Given the description of an element on the screen output the (x, y) to click on. 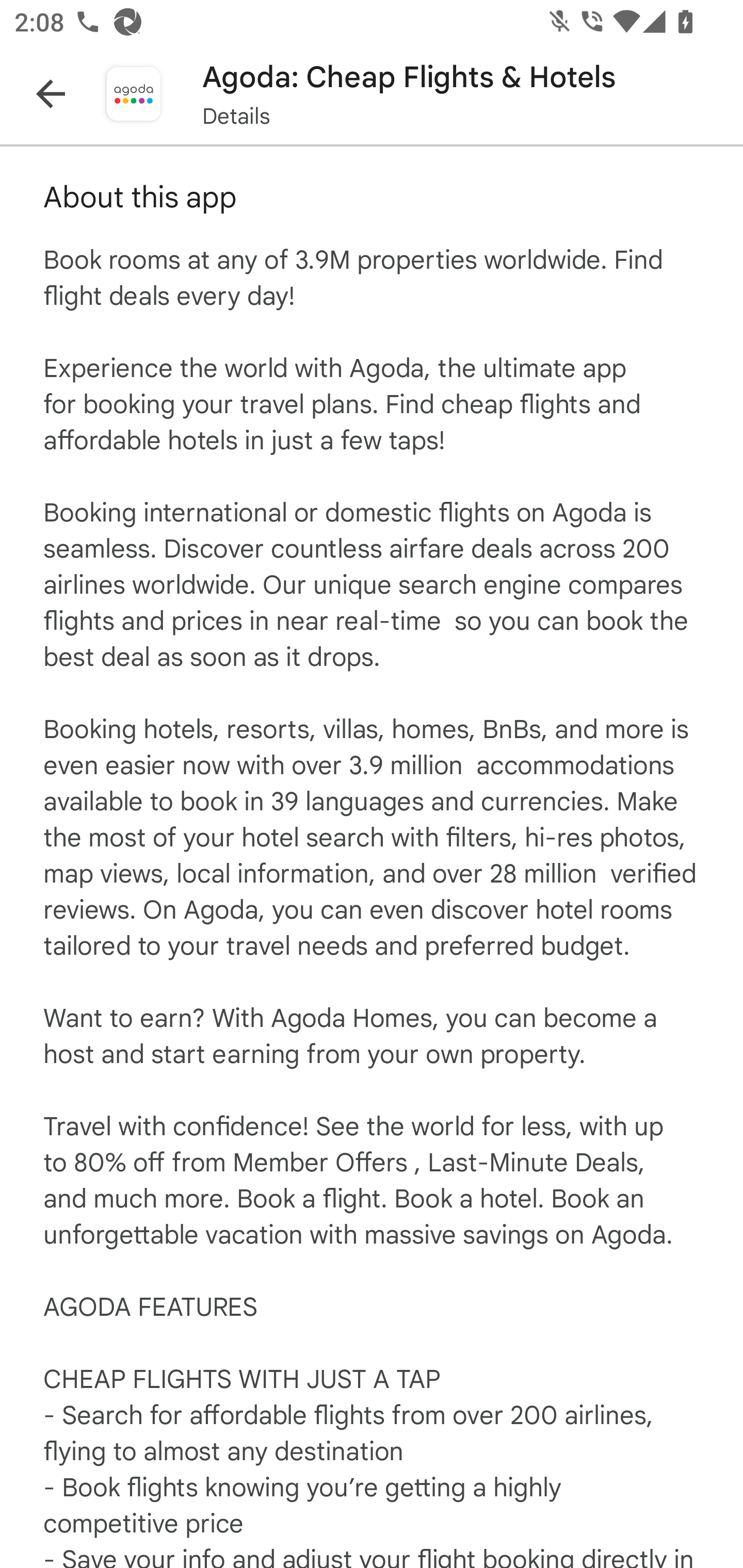
Navigate up (50, 93)
